Given the description of an element on the screen output the (x, y) to click on. 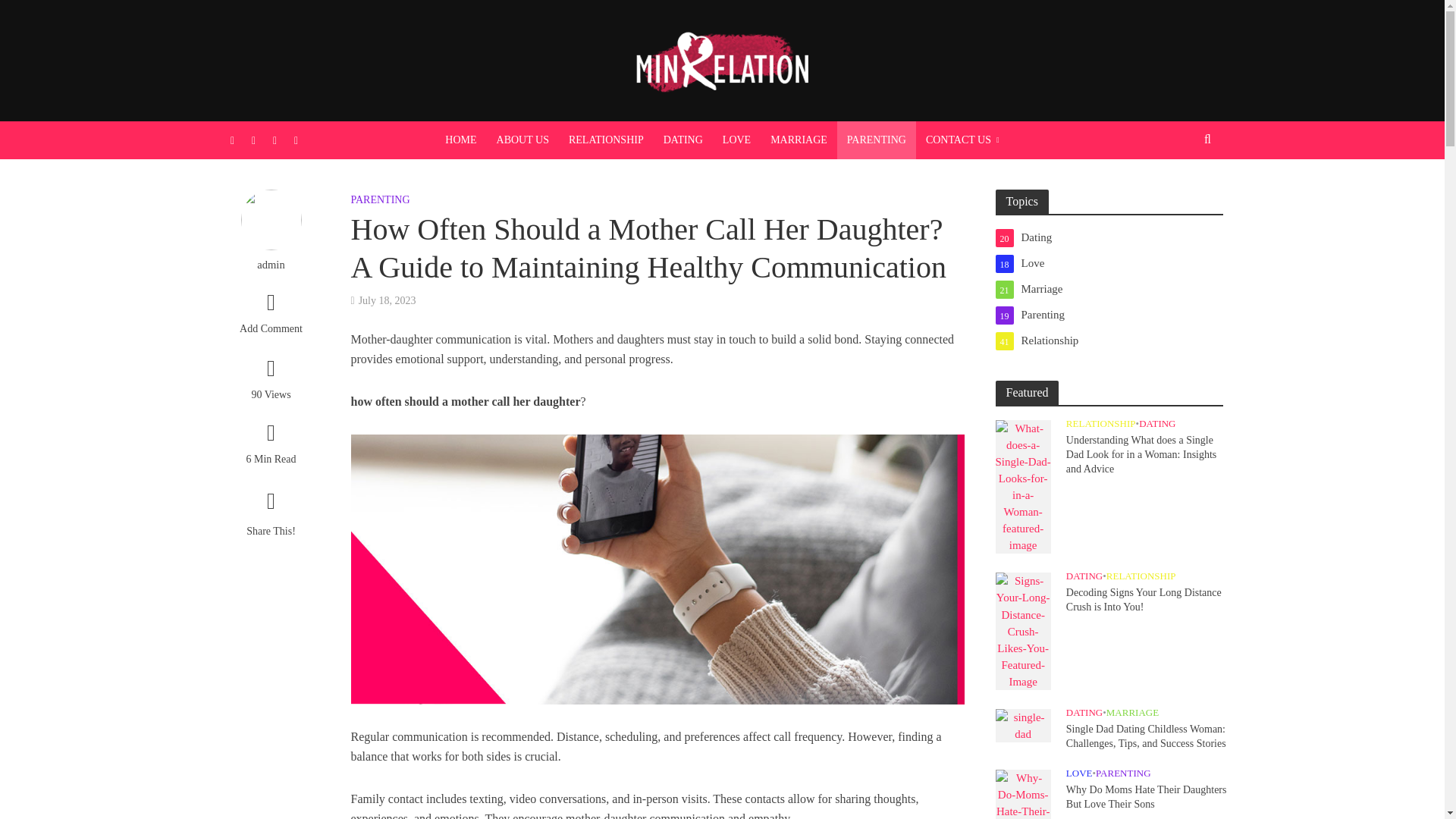
PARENTING (876, 139)
ABOUT US (522, 139)
RELATIONSHIP (606, 139)
LOVE (736, 139)
CONTACT US (962, 139)
HOME (460, 139)
Decoding Signs Your Long Distance Crush is Into You! (1021, 630)
MARRIAGE (798, 139)
